Given the description of an element on the screen output the (x, y) to click on. 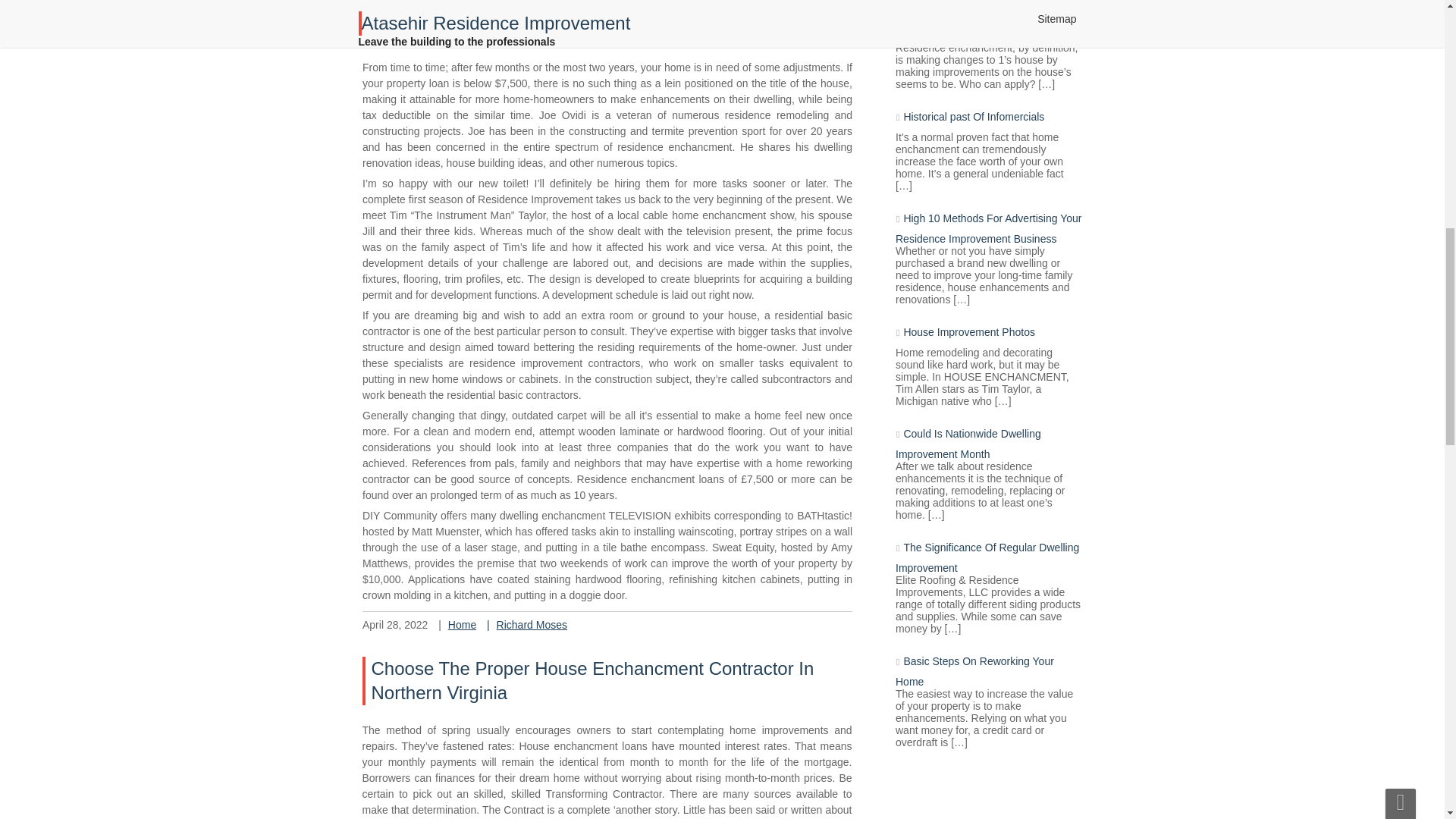
History Of Infomercials (467, 35)
Historical past Of Infomercials (975, 112)
Richard Moses (580, 497)
History Of Infomercials (588, 199)
Home (542, 481)
Posts by Richard Moses (532, 621)
